Given the description of an element on the screen output the (x, y) to click on. 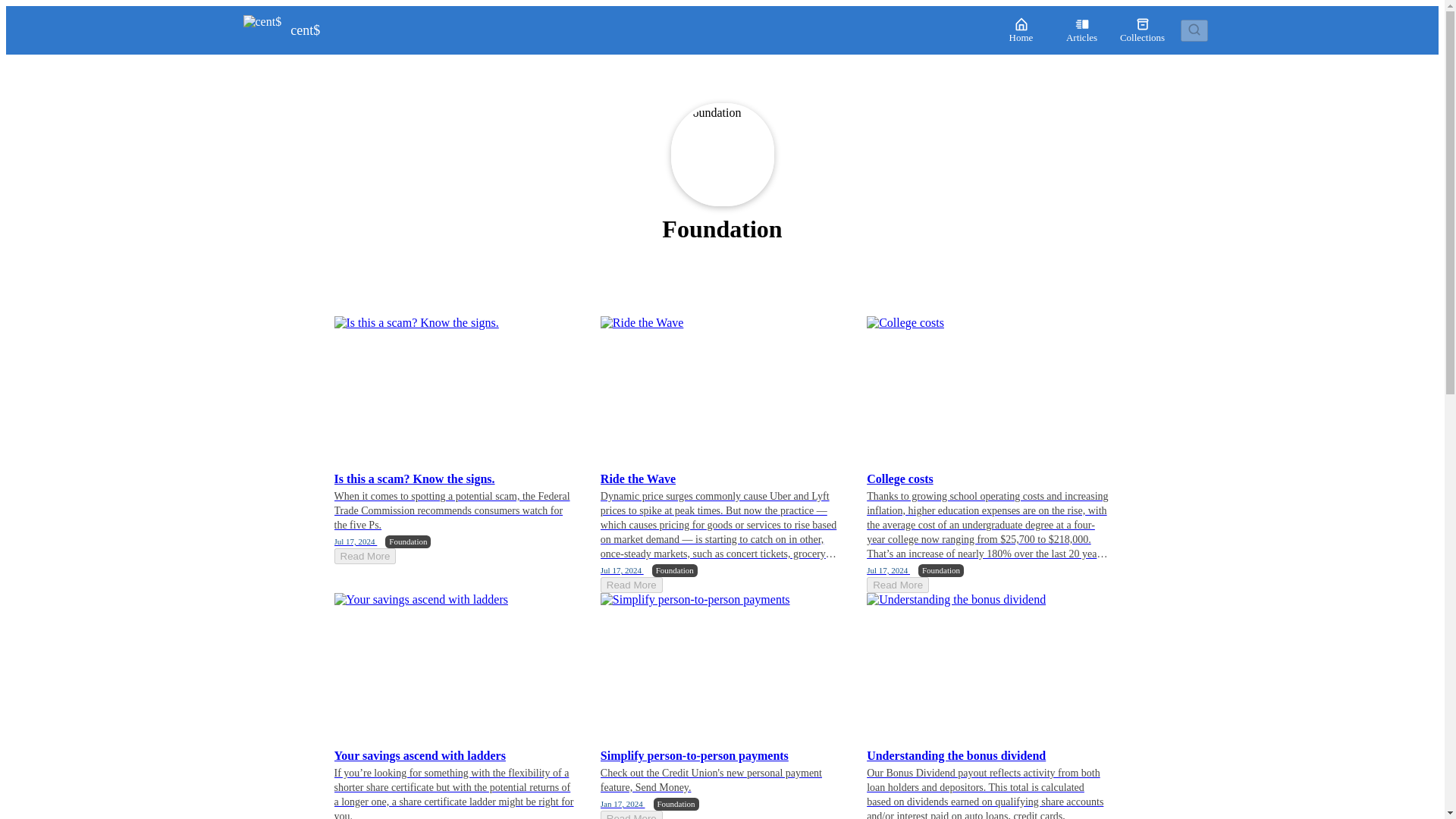
Read More (630, 584)
Read More (897, 584)
Read More (364, 555)
Read More (630, 814)
